Given the description of an element on the screen output the (x, y) to click on. 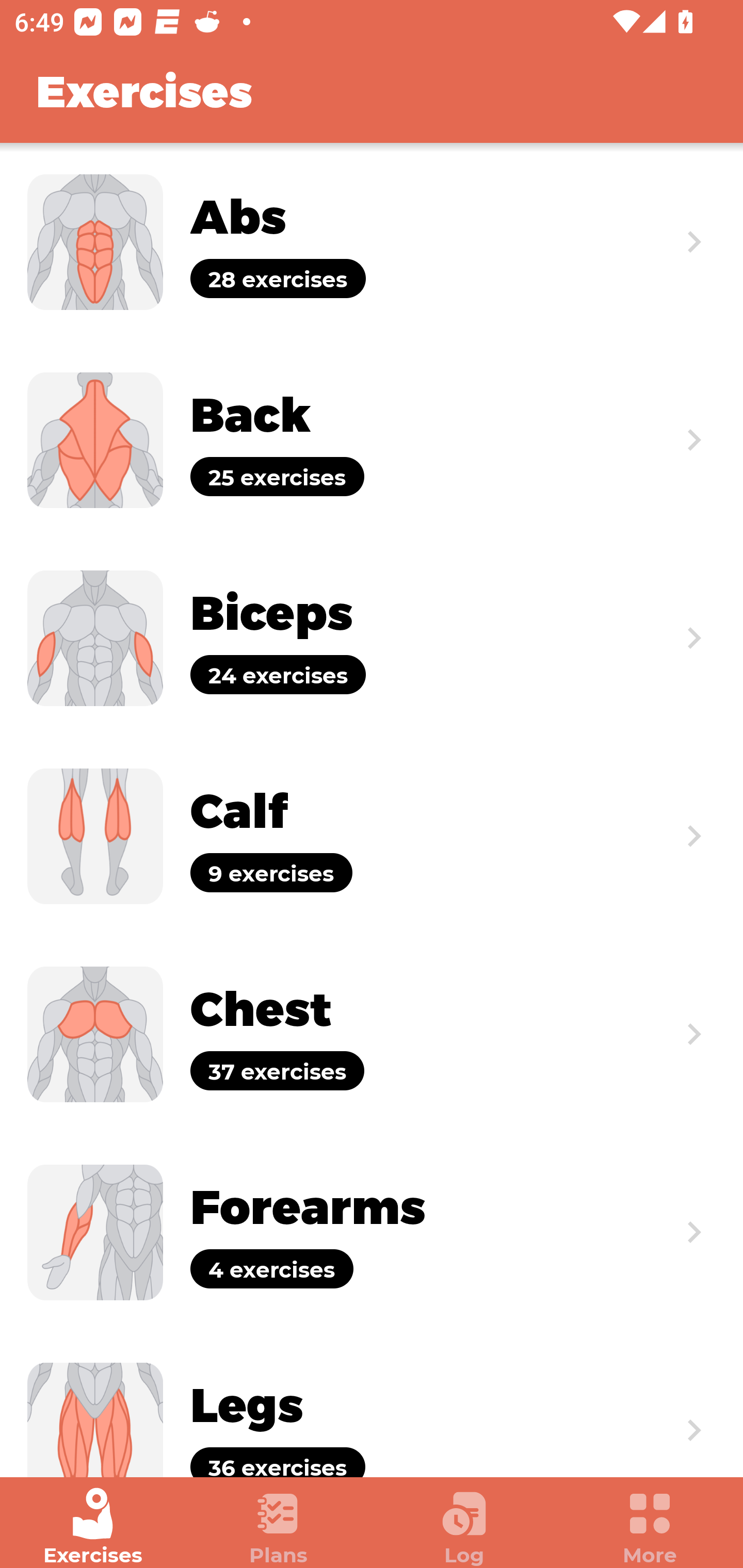
Exercise Abs 28 exercises (371, 241)
Exercise Back 25 exercises (371, 439)
Exercise Biceps 24 exercises (371, 637)
Exercise Calf 9 exercises (371, 836)
Exercise Chest 37 exercises (371, 1033)
Exercise Forearms 4 exercises (371, 1232)
Exercise Legs 36 exercises (371, 1404)
Exercises (92, 1527)
Plans (278, 1527)
Log (464, 1527)
More (650, 1527)
